Given the description of an element on the screen output the (x, y) to click on. 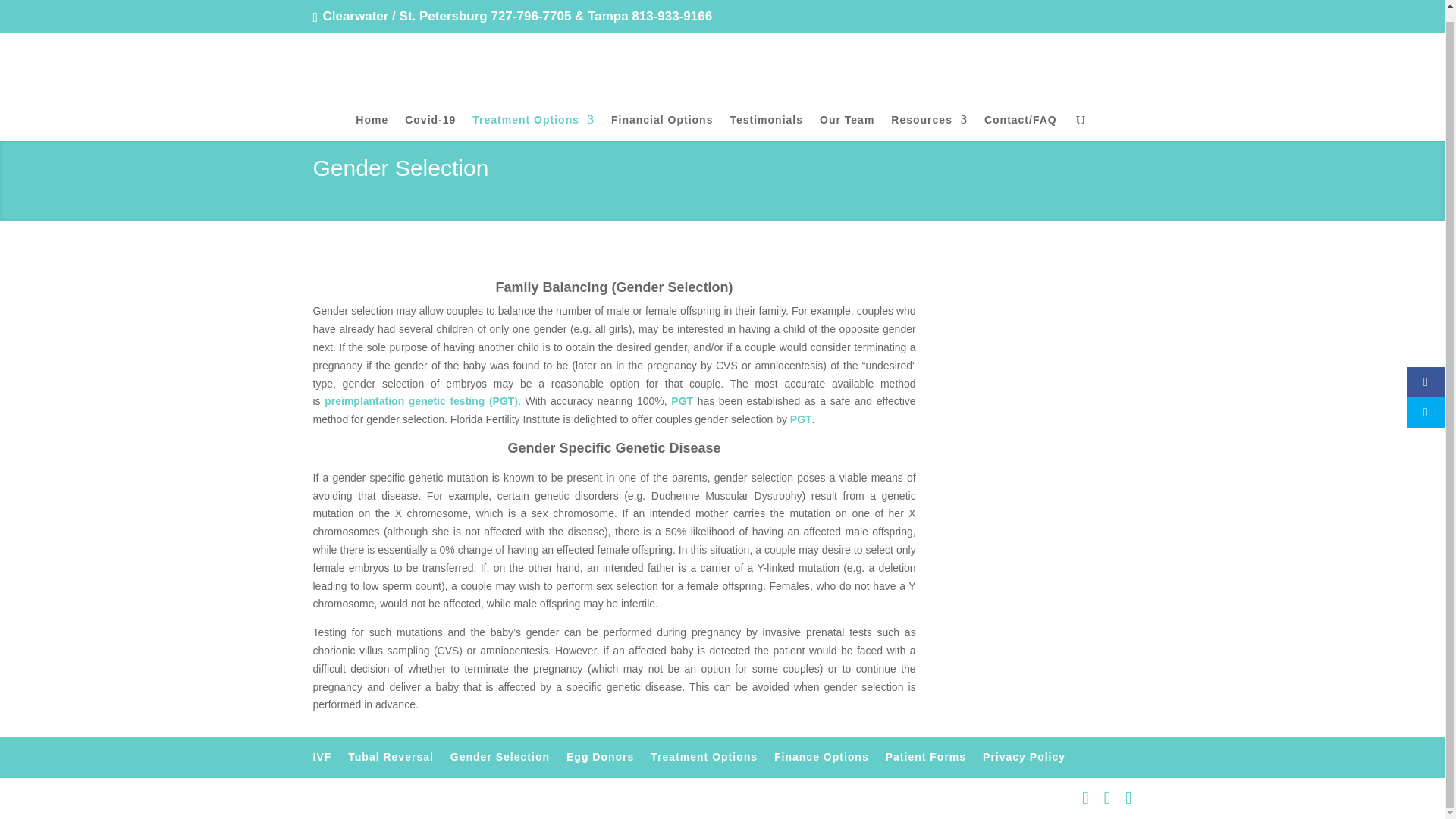
Covid-19 (429, 116)
Financial Options (662, 116)
Home (371, 116)
Resources (929, 116)
Testimonials (766, 116)
Our Team (847, 116)
Treatment Options (532, 116)
